Given the description of an element on the screen output the (x, y) to click on. 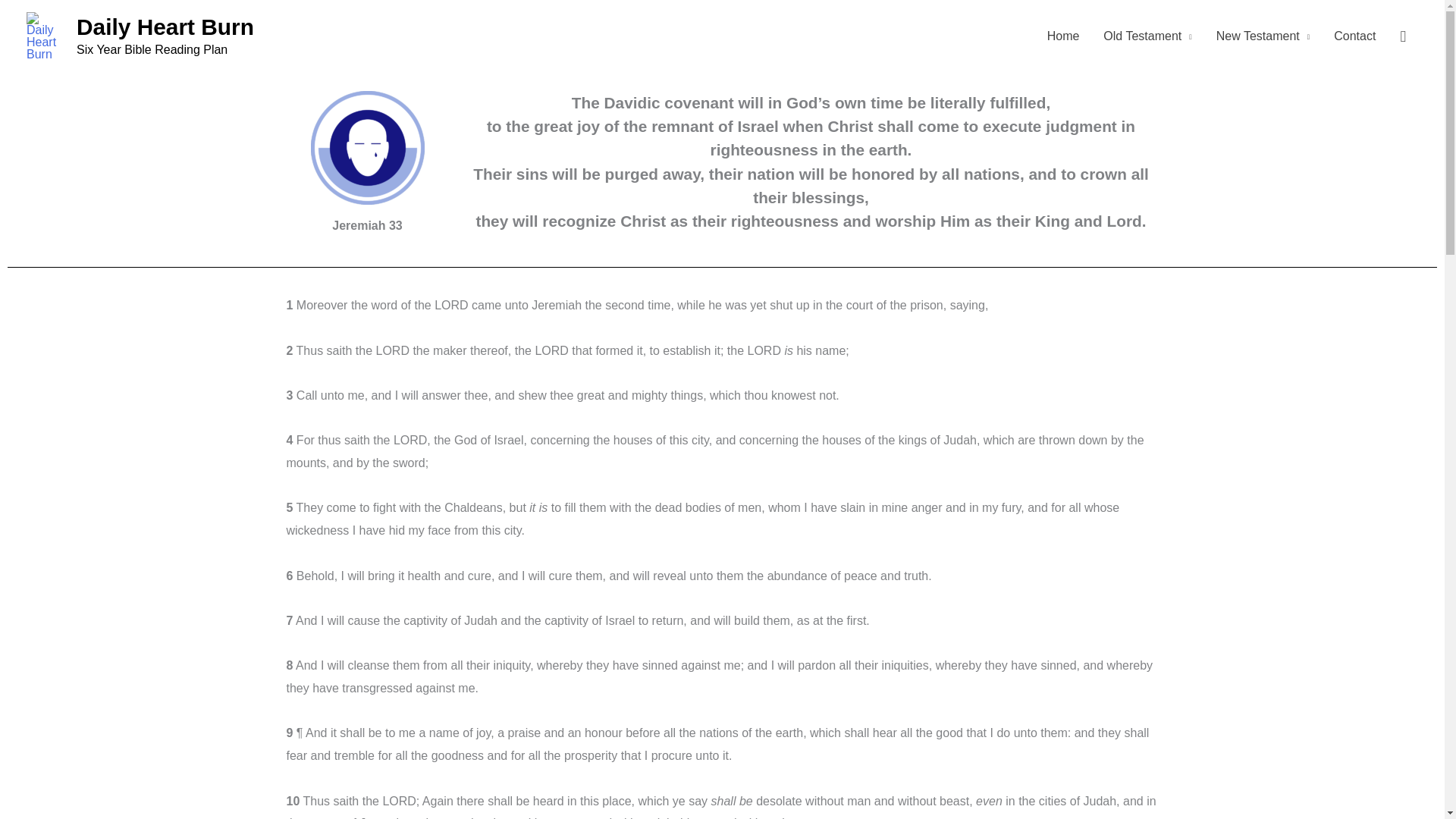
New Testament (1263, 36)
Old Testament (1147, 36)
Home (1063, 36)
Daily Heart Burn (165, 26)
